Given the description of an element on the screen output the (x, y) to click on. 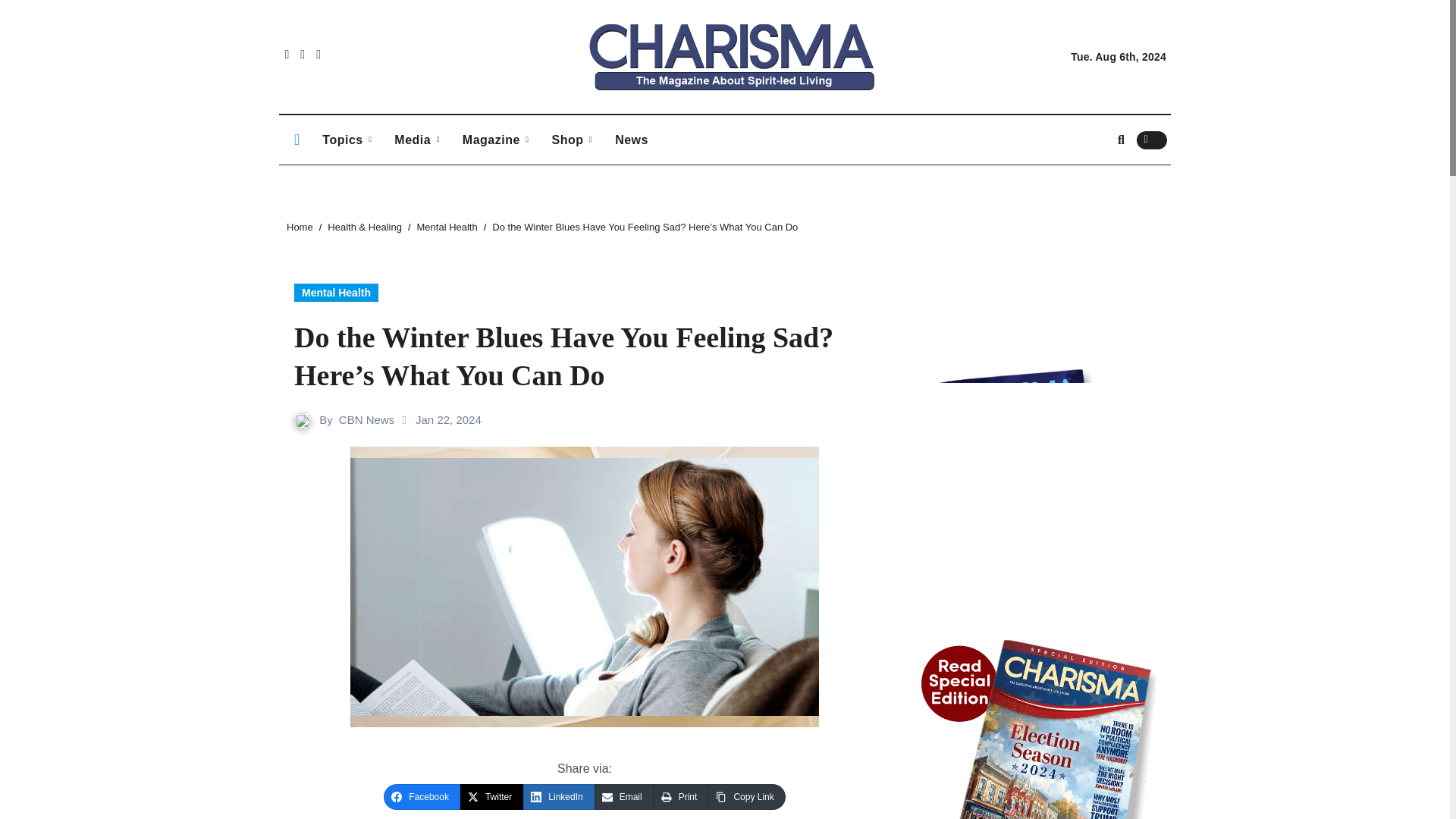
News (631, 139)
Topics (346, 139)
Media (416, 139)
Home (299, 226)
Topics (346, 139)
Magazine (495, 139)
Media (416, 139)
Shop (572, 139)
